Given the description of an element on the screen output the (x, y) to click on. 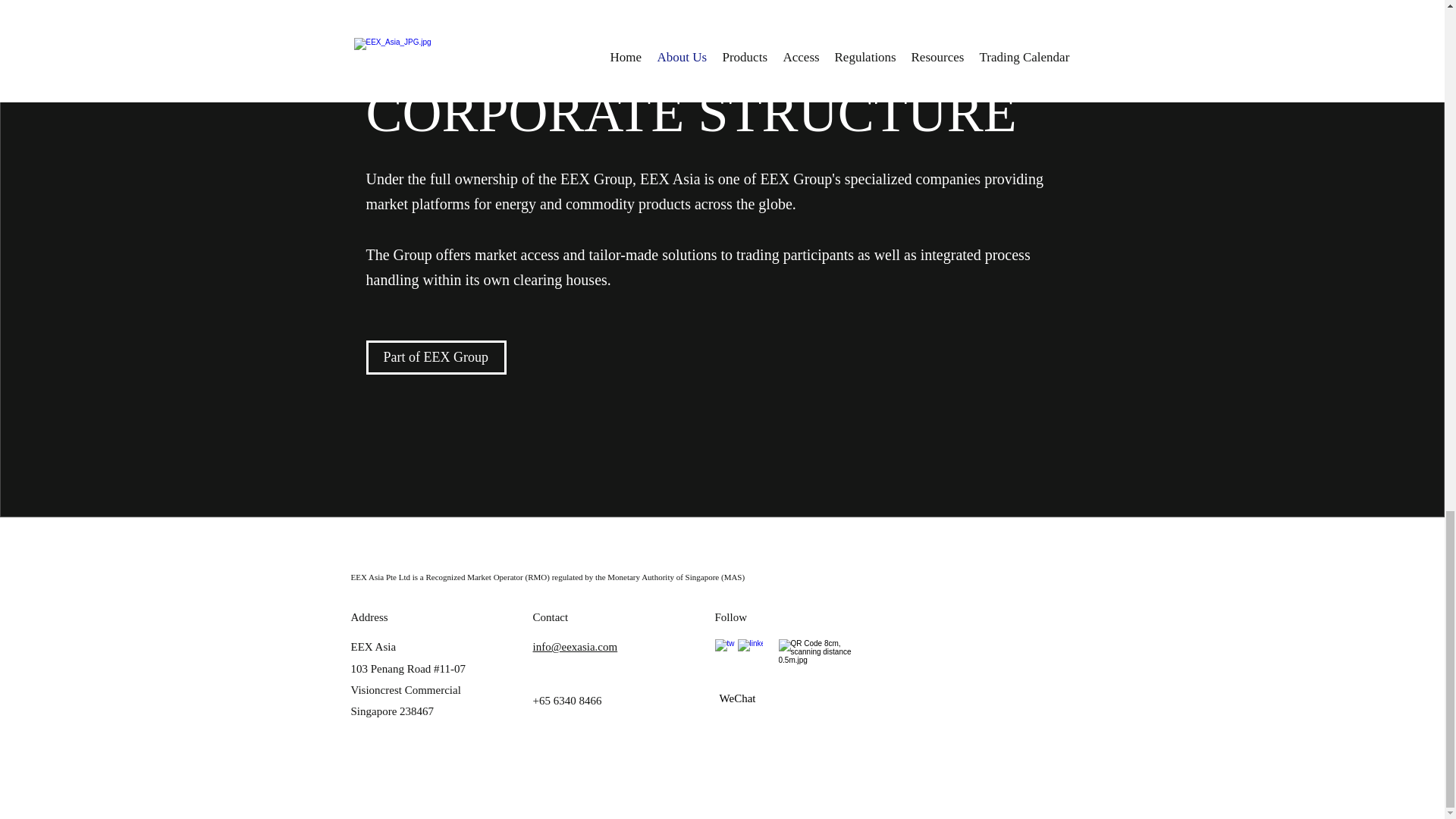
Part of EEX Group (435, 357)
